Given the description of an element on the screen output the (x, y) to click on. 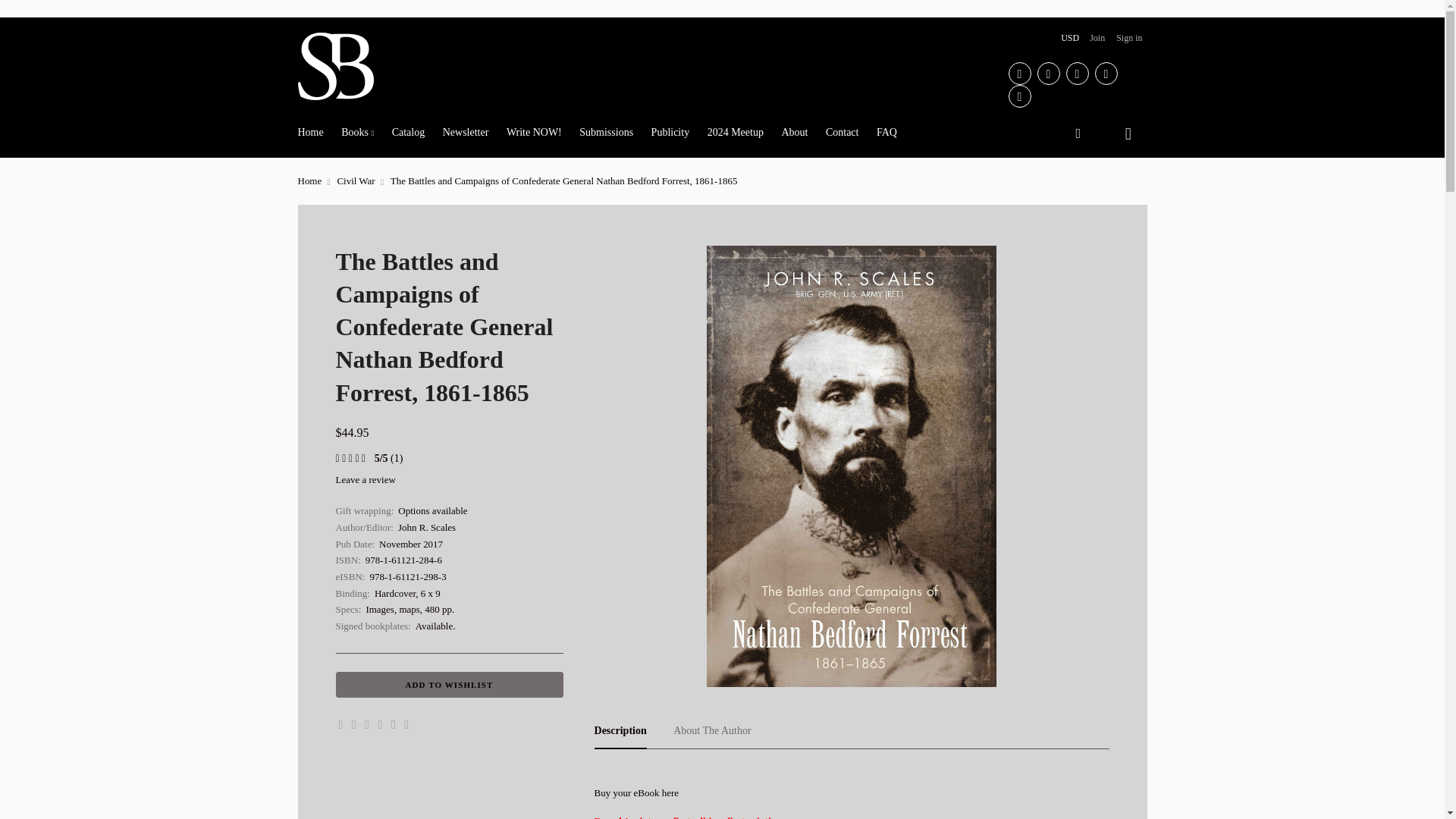
Twitter (1106, 73)
View cart (1129, 132)
Books (357, 132)
Sign in (1129, 38)
Instagram (1019, 96)
LinkedIn (1047, 73)
Twitter (1106, 73)
LinkedIn (1047, 73)
YouTube (1077, 73)
Add to Wishlist (448, 684)
YouTube (1077, 73)
Facebook (1019, 73)
Facebook (1019, 73)
Instagram (1019, 96)
View cart (1129, 132)
